Given the description of an element on the screen output the (x, y) to click on. 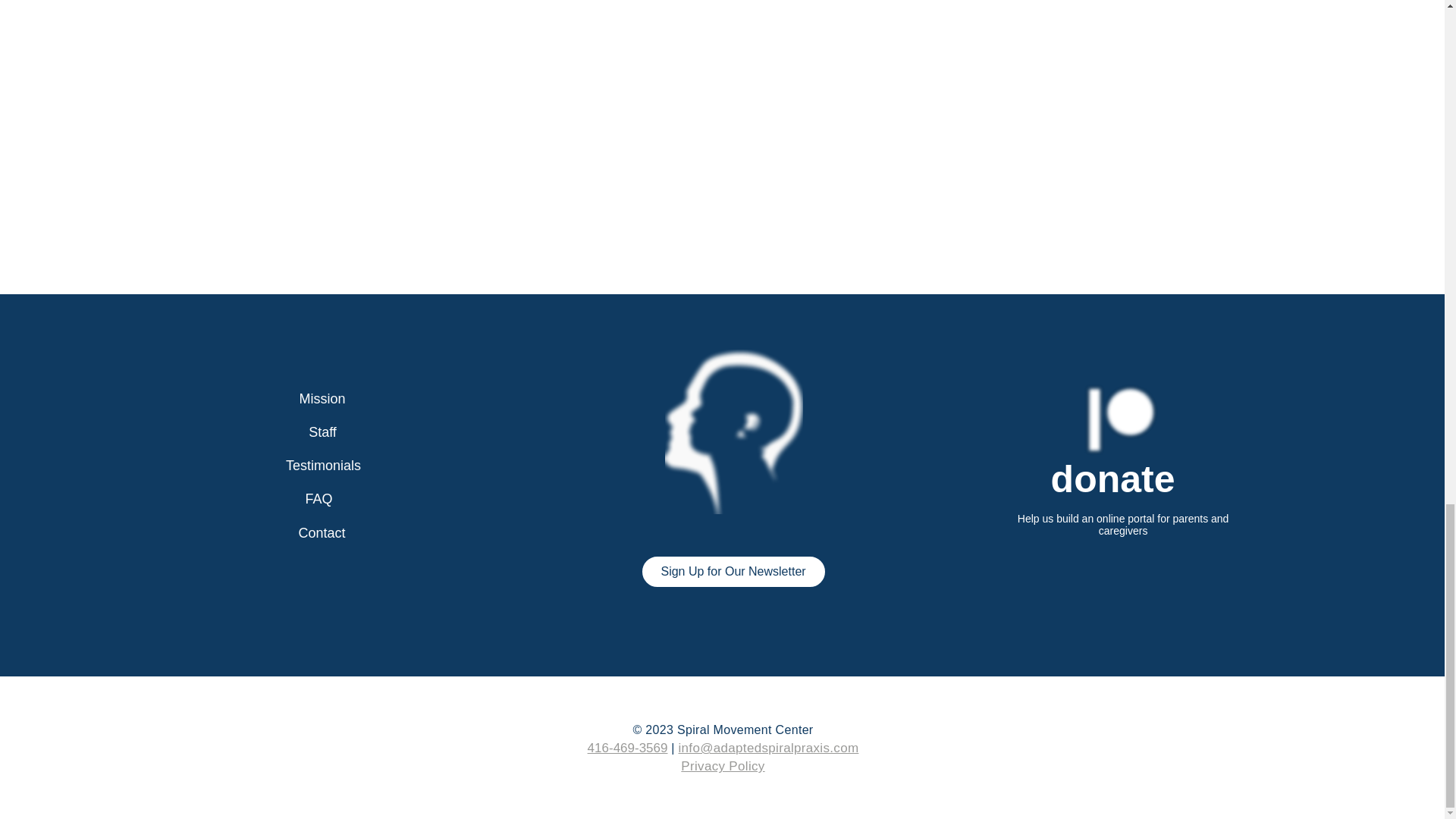
FAQ (318, 499)
donate (1112, 478)
Testimonials (323, 465)
Staff (322, 431)
Help us build an online portal for parents and caregivers (1122, 524)
Sign Up for Our Newsletter (733, 571)
416-469-3569 (628, 748)
Contact (321, 532)
Mission (322, 399)
Privacy Policy (722, 766)
